Given the description of an element on the screen output the (x, y) to click on. 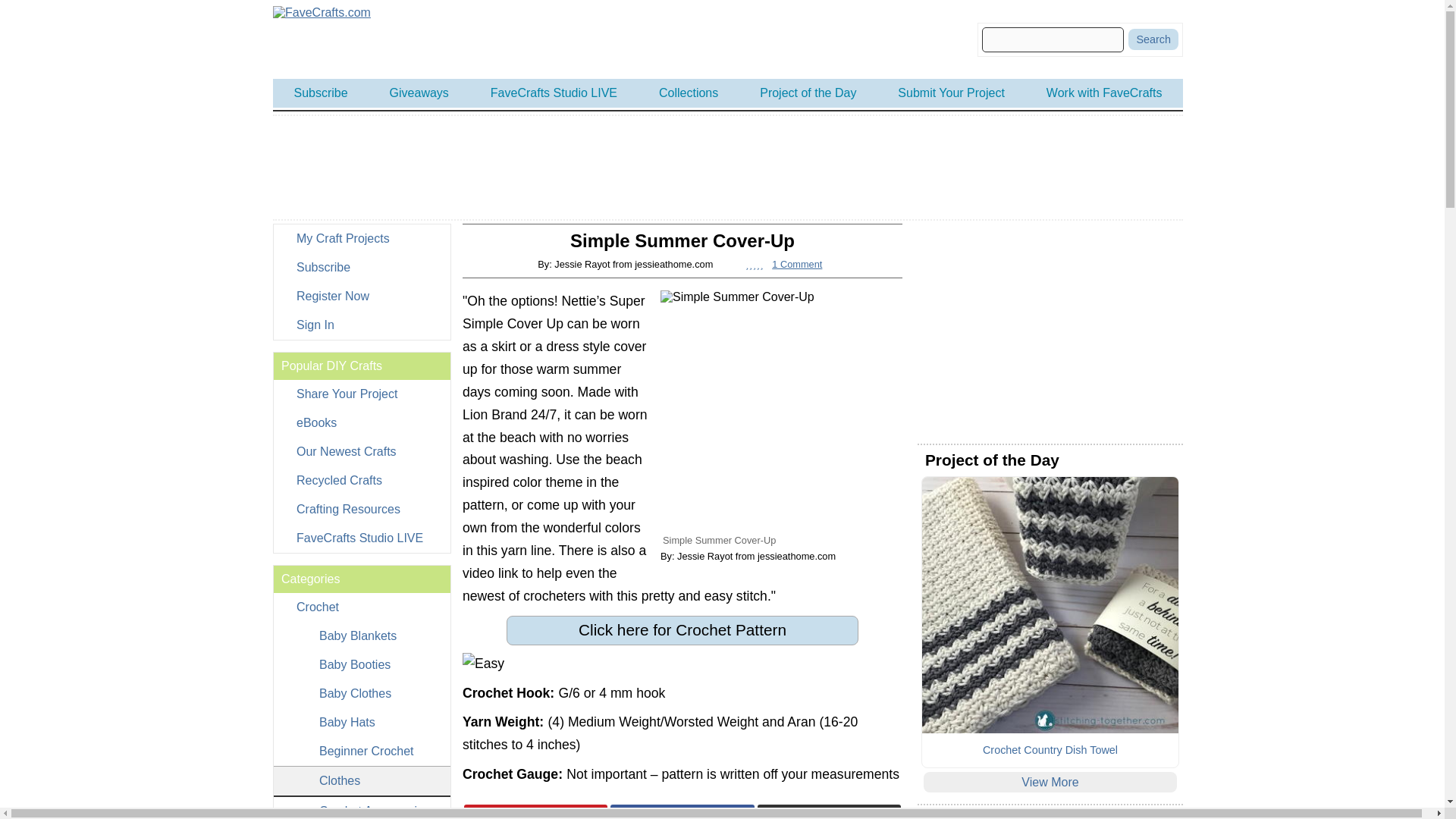
My Craft Projects (361, 238)
Register Now (361, 296)
Simple Summer Cover-Up (781, 411)
Search (1152, 38)
Facebook (682, 811)
Sign In (361, 325)
Subscribe (361, 267)
Email (829, 811)
